Given the description of an element on the screen output the (x, y) to click on. 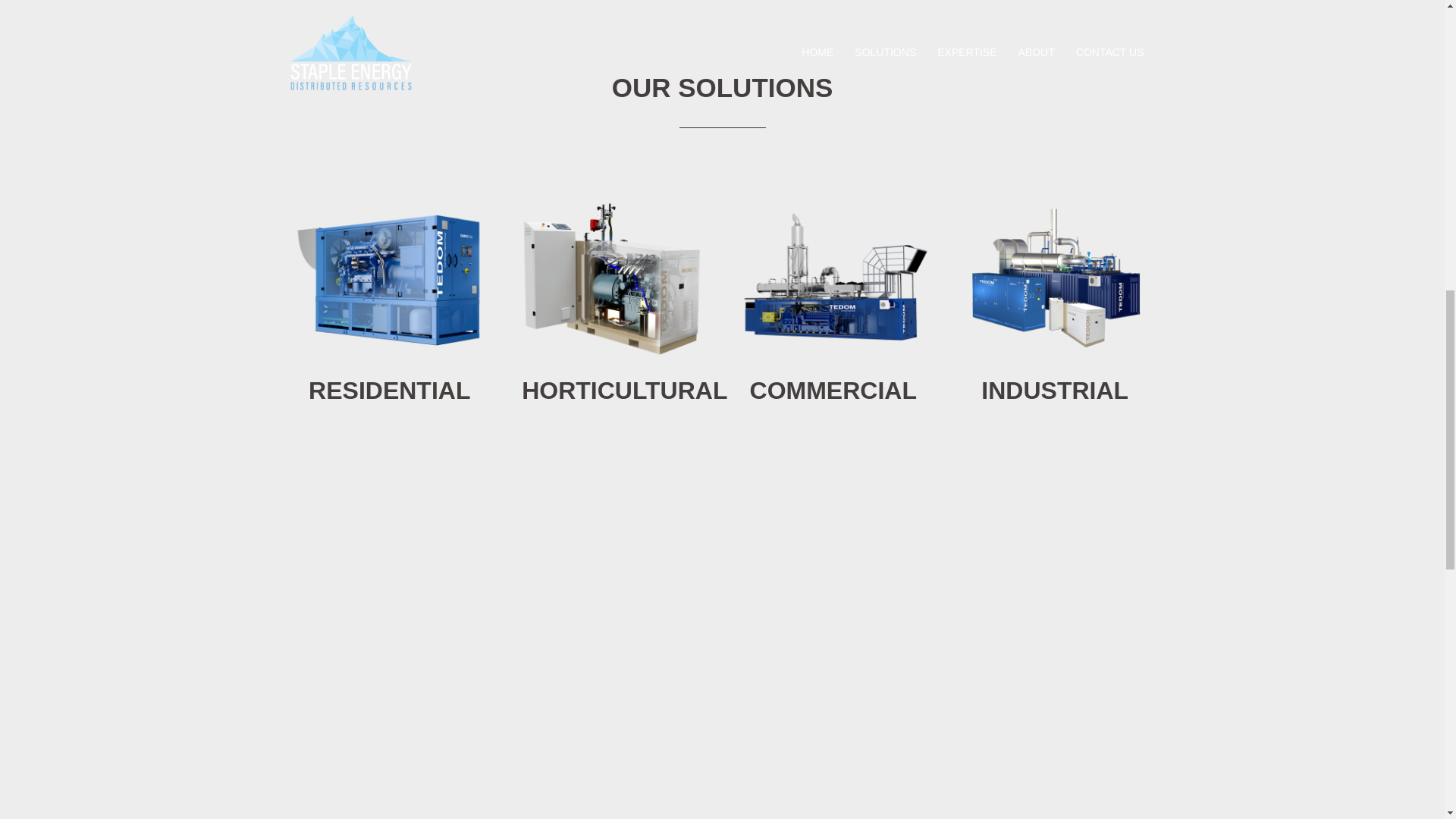
COMMERCIAL (833, 390)
RESIDENTIAL (389, 390)
INDUSTRIAL (1054, 390)
HORTICULTURAL (623, 390)
